Given the description of an element on the screen output the (x, y) to click on. 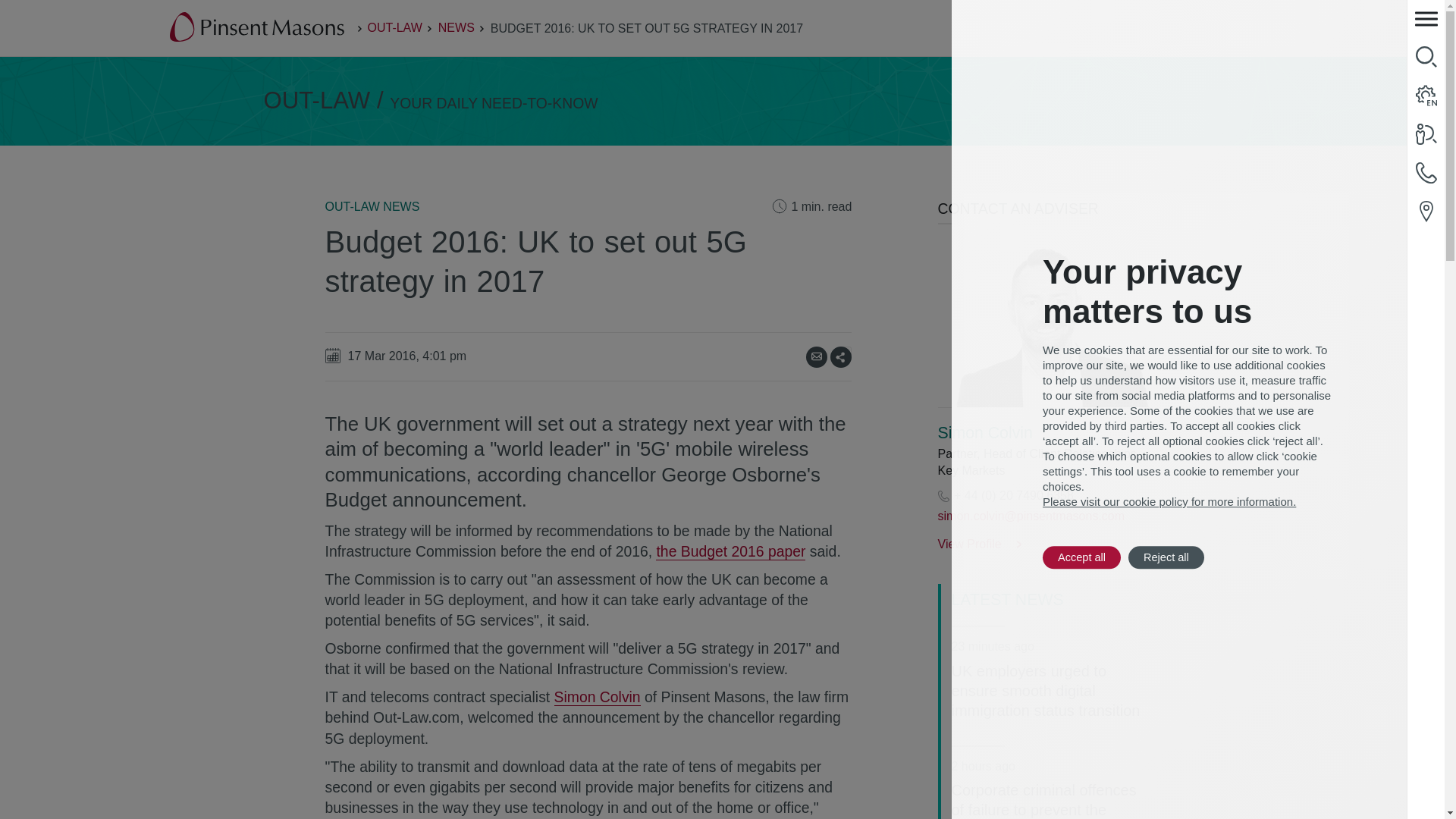
OUT-LAW (394, 27)
on (846, 351)
Email (816, 356)
NEWS (456, 27)
Pinsent Masons (257, 28)
